Given the description of an element on the screen output the (x, y) to click on. 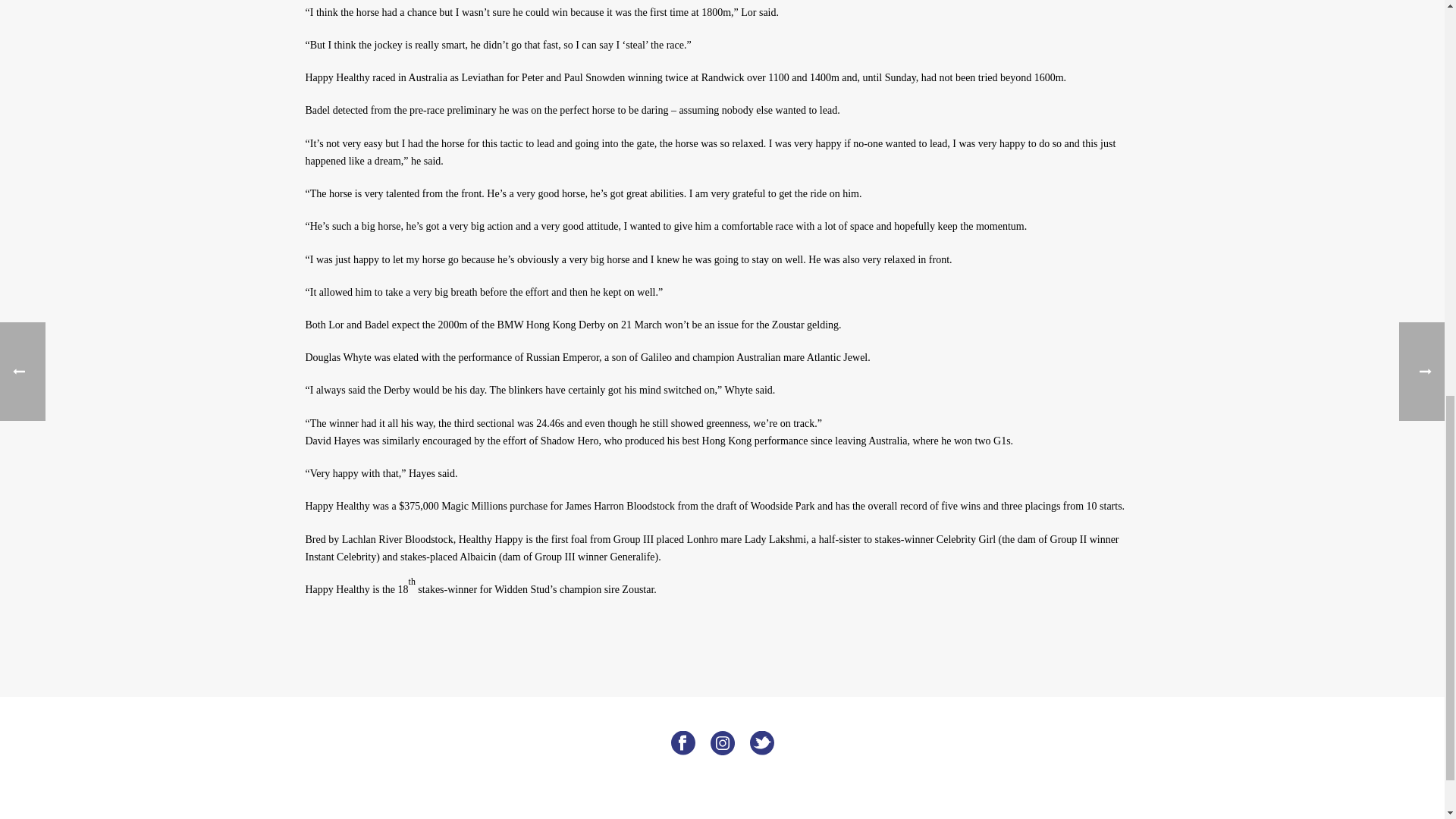
Follow Us on twitter (761, 743)
Follow Us on instagram (721, 743)
Follow Us on facebook (681, 743)
